Given the description of an element on the screen output the (x, y) to click on. 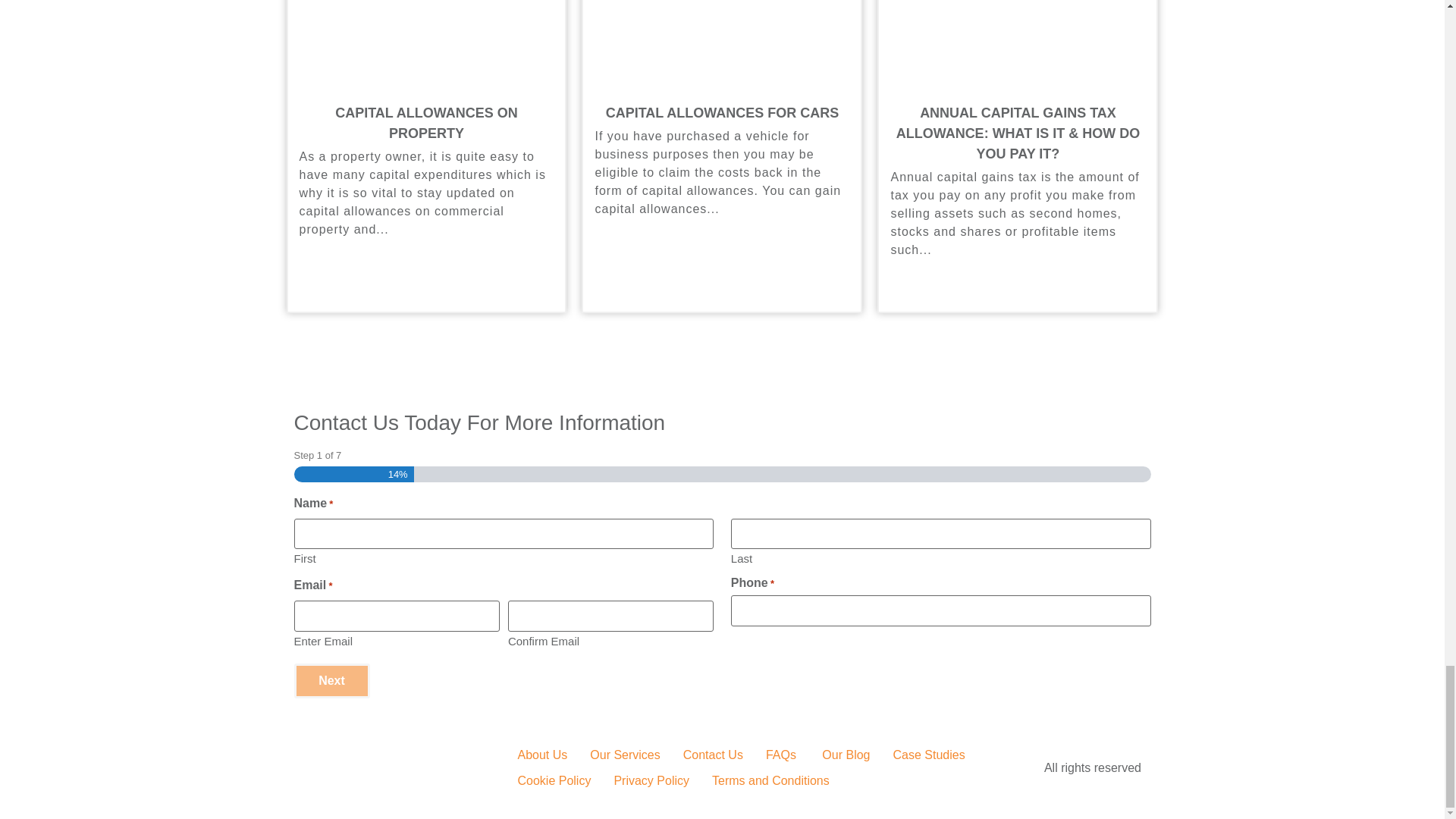
Capital Allowances For Cars (722, 112)
Capital Allowances On Property (426, 122)
Next (331, 680)
